Given the description of an element on the screen output the (x, y) to click on. 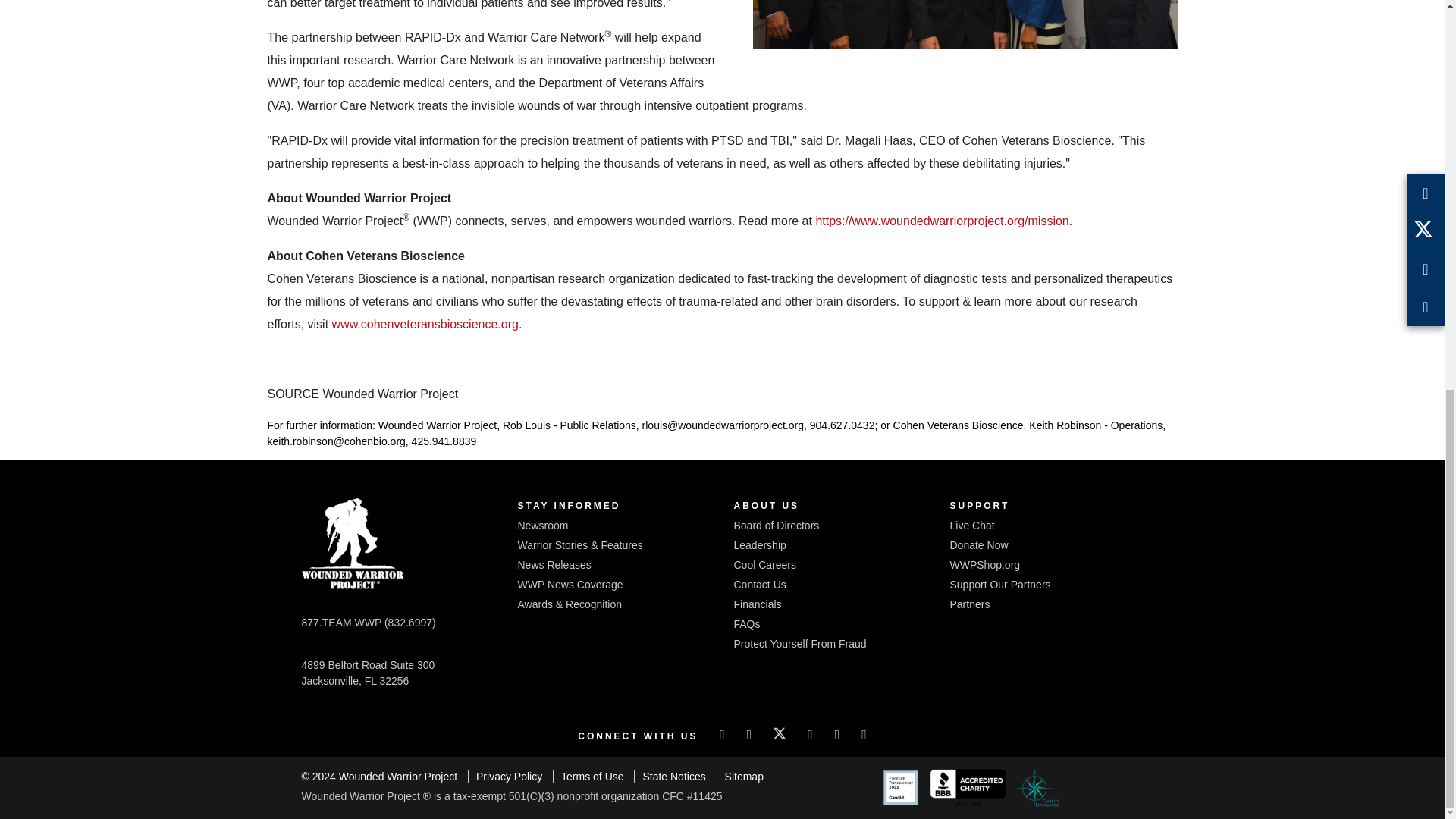
Wounded Warrior Project Cohen Veterans Network (964, 24)
Cool Careers (764, 564)
Leadership (759, 544)
Board of Directors (776, 525)
